Given the description of an element on the screen output the (x, y) to click on. 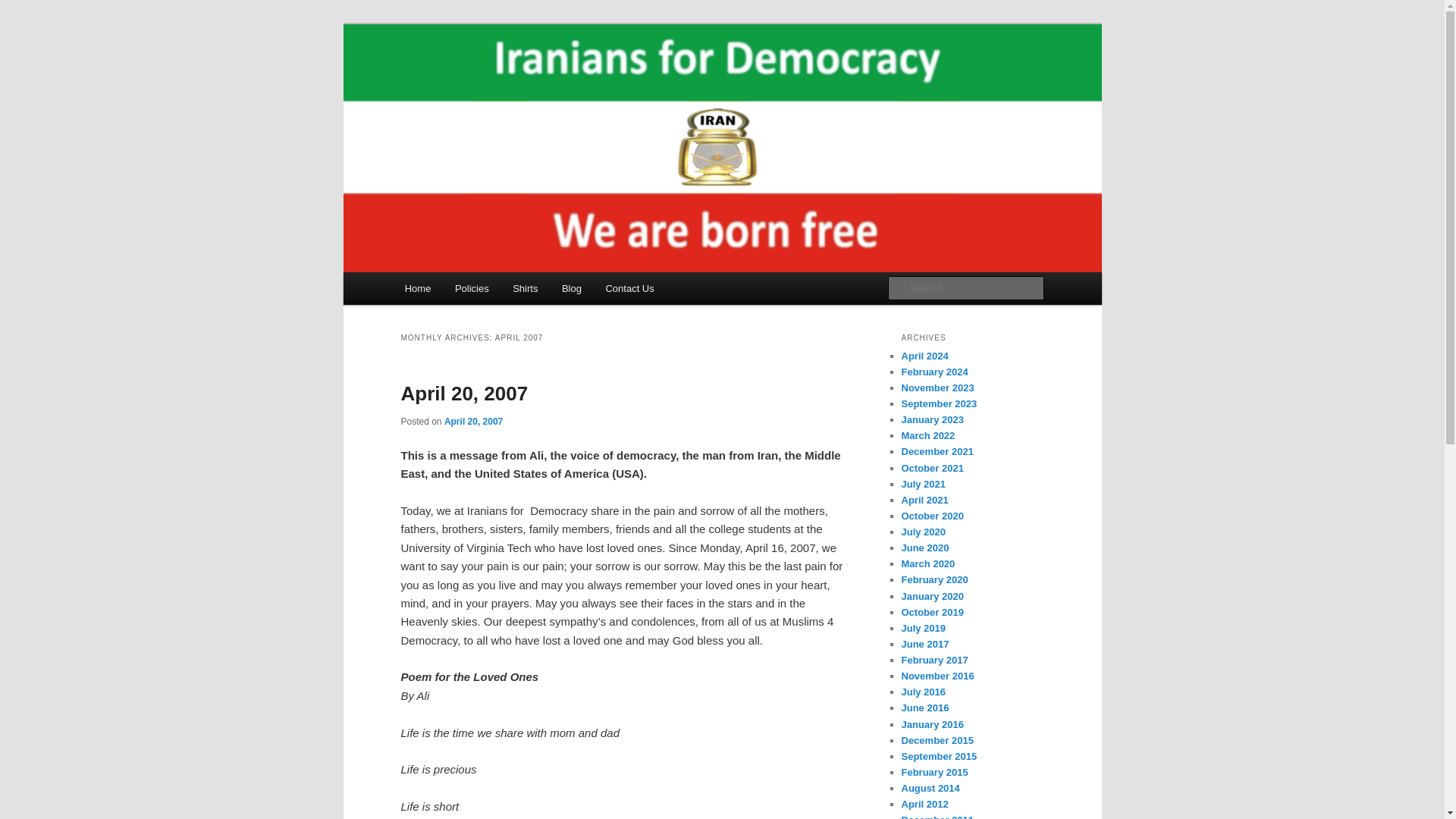
Shirts (525, 287)
September 2023 (938, 403)
Policies (471, 287)
April 2021 (924, 500)
April 2024 (924, 355)
February 2017 (934, 659)
February 2020 (934, 579)
April 20, 2007 (463, 393)
Search (24, 8)
January 2016 (931, 724)
March 2022 (928, 435)
March 2020 (928, 563)
2:26 AM (473, 420)
December 2015 (936, 740)
November 2016 (937, 675)
